Given the description of an element on the screen output the (x, y) to click on. 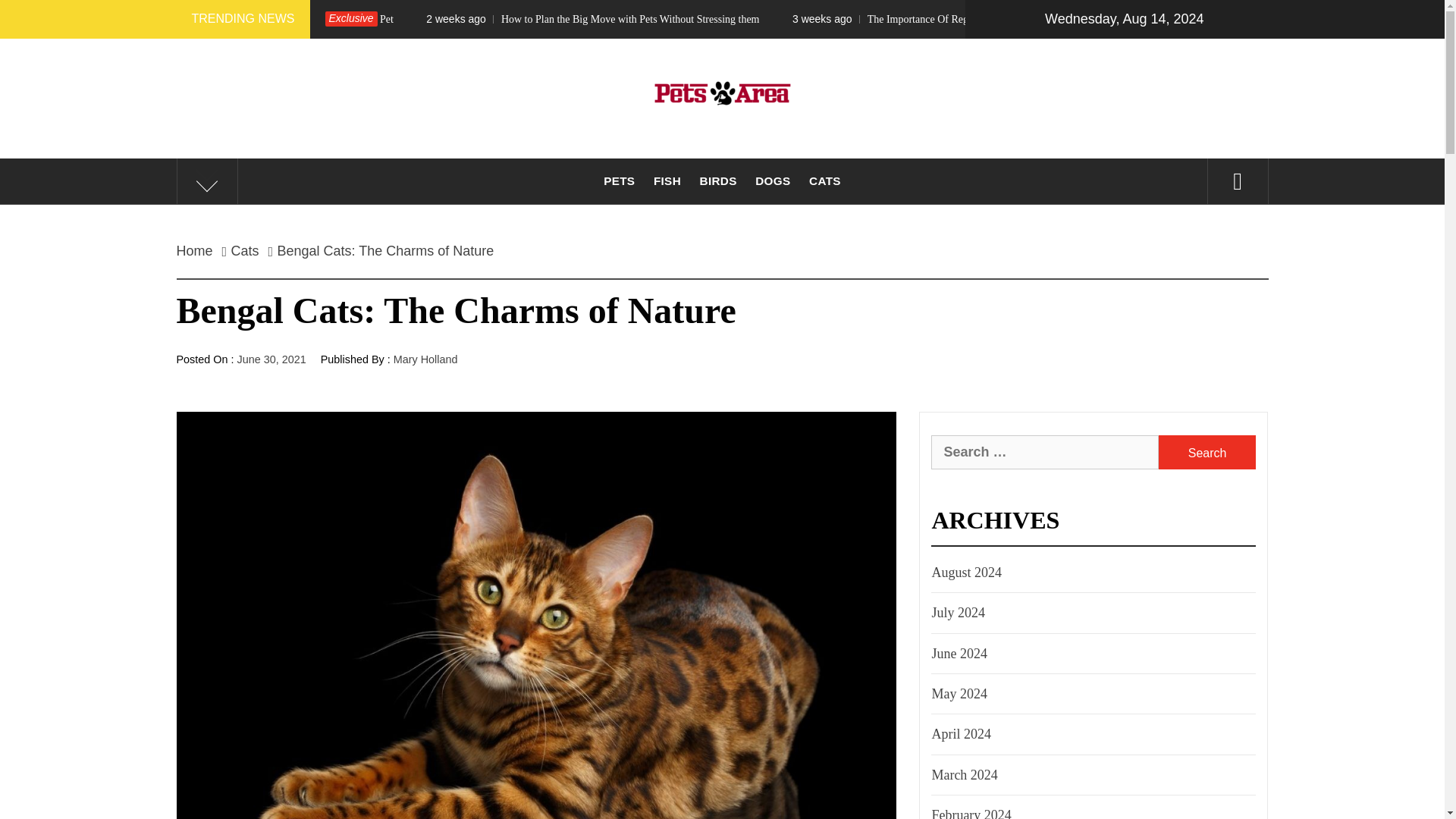
PETS (618, 180)
CATS (825, 180)
FISH (667, 180)
Search (1206, 451)
BIRDS (718, 180)
PETS AREA (721, 176)
Search (1206, 451)
DOGS (772, 180)
